Given the description of an element on the screen output the (x, y) to click on. 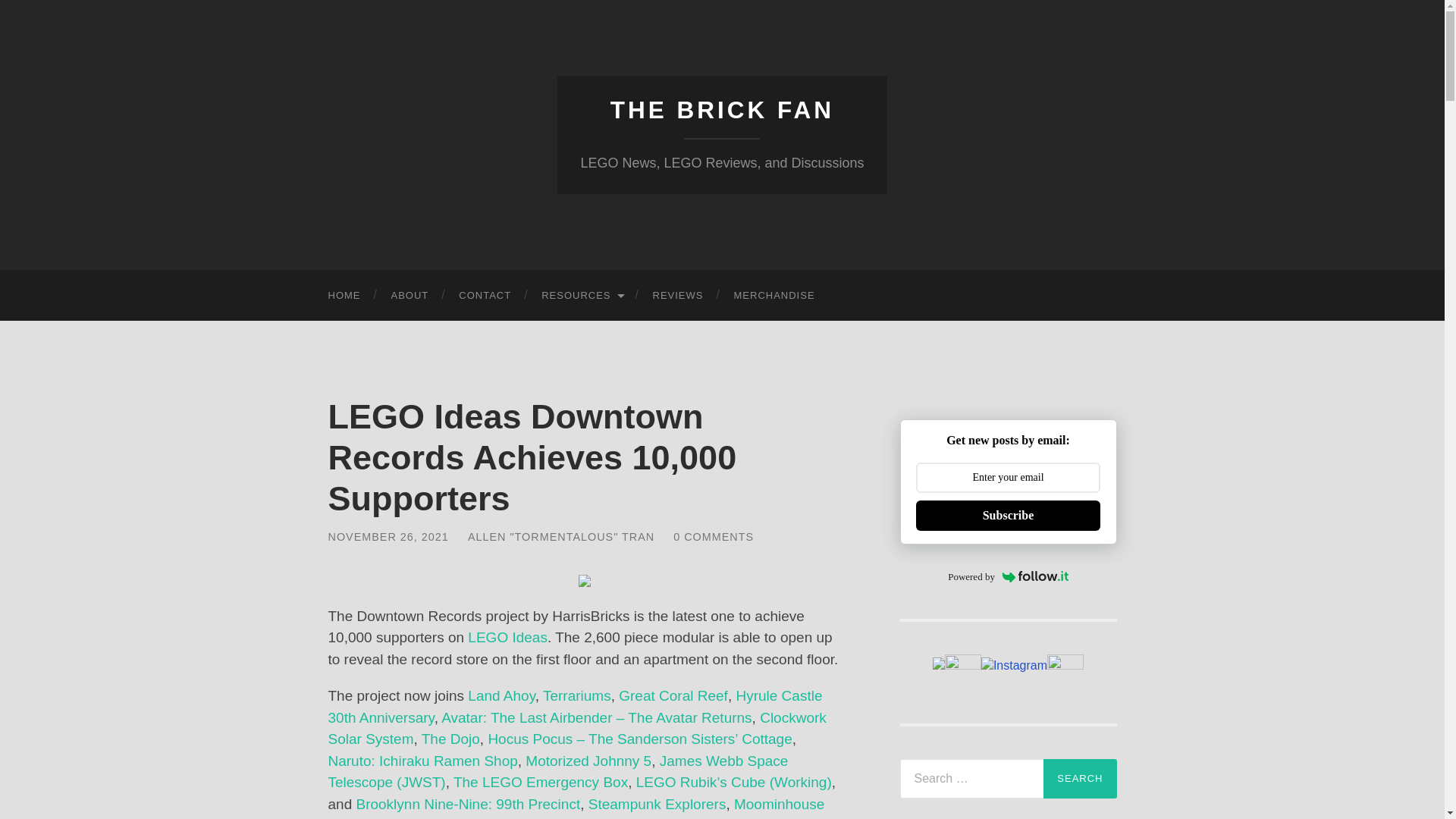
Land Ahoy (500, 695)
0 COMMENTS (713, 536)
The Dojo (451, 738)
Motorized Johnny 5 (587, 760)
THE BRICK FAN (722, 109)
Posts by Allen "Tormentalous" Tran (560, 536)
The LEGO Emergency Box (539, 781)
HOME (344, 295)
MERCHANDISE (774, 295)
ALLEN "TORMENTALOUS" TRAN (560, 536)
